Given the description of an element on the screen output the (x, y) to click on. 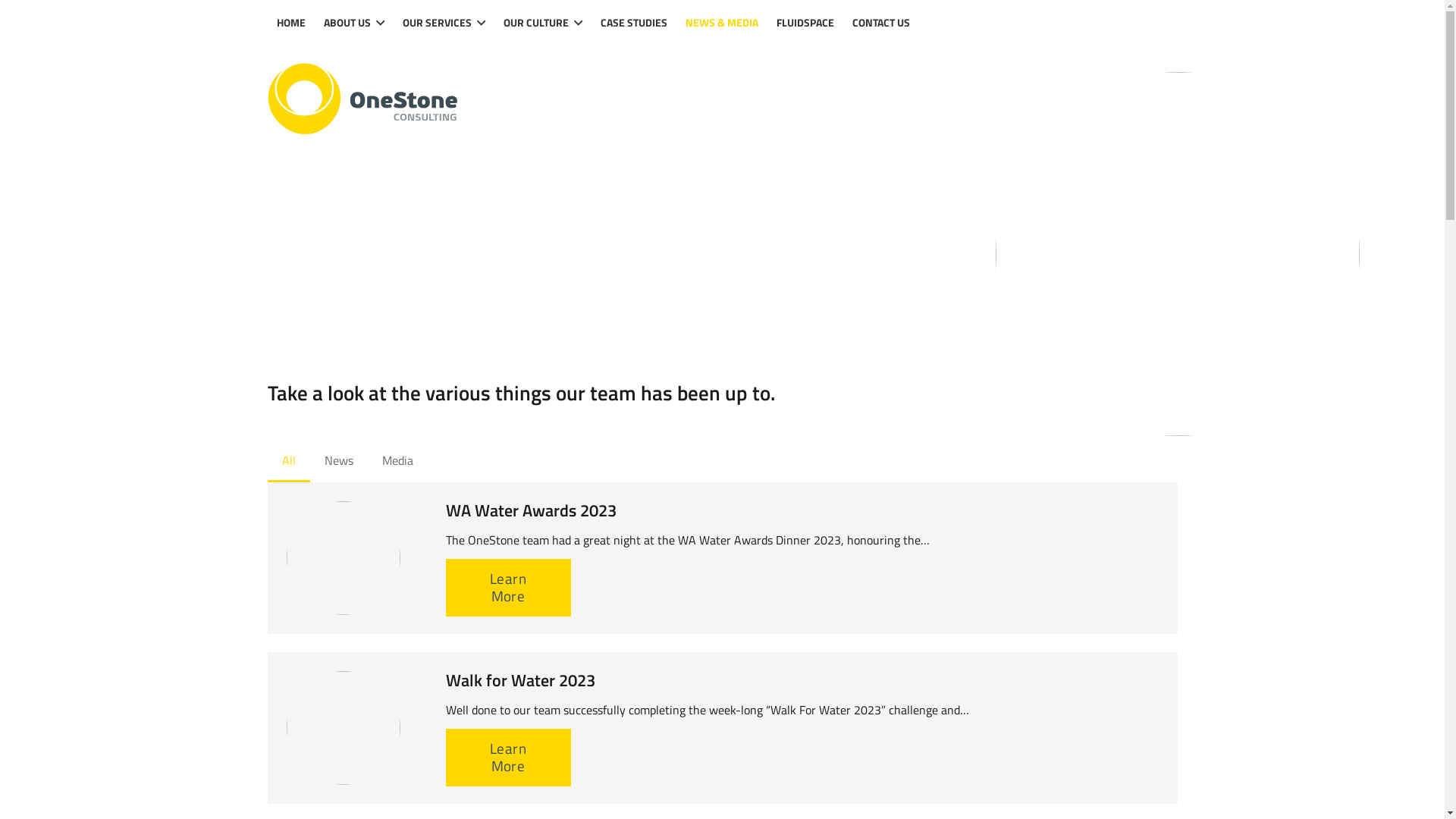
Learn More Element type: text (508, 587)
CONTACT US Element type: text (881, 22)
Learn More Element type: text (508, 757)
All Element type: text (287, 461)
ABOUT US Element type: text (352, 22)
HOME Element type: text (289, 22)
News Element type: text (338, 461)
WA Water Awards 2023 Element type: text (530, 510)
CASE STUDIES Element type: text (633, 22)
NEWS & MEDIA Element type: text (721, 22)
Walk for Water 2023 Element type: text (520, 680)
Media Element type: text (397, 461)
OUR SERVICES Element type: text (443, 22)
OUR CULTURE Element type: text (542, 22)
FLUIDSPACE Element type: text (805, 22)
